Given the description of an element on the screen output the (x, y) to click on. 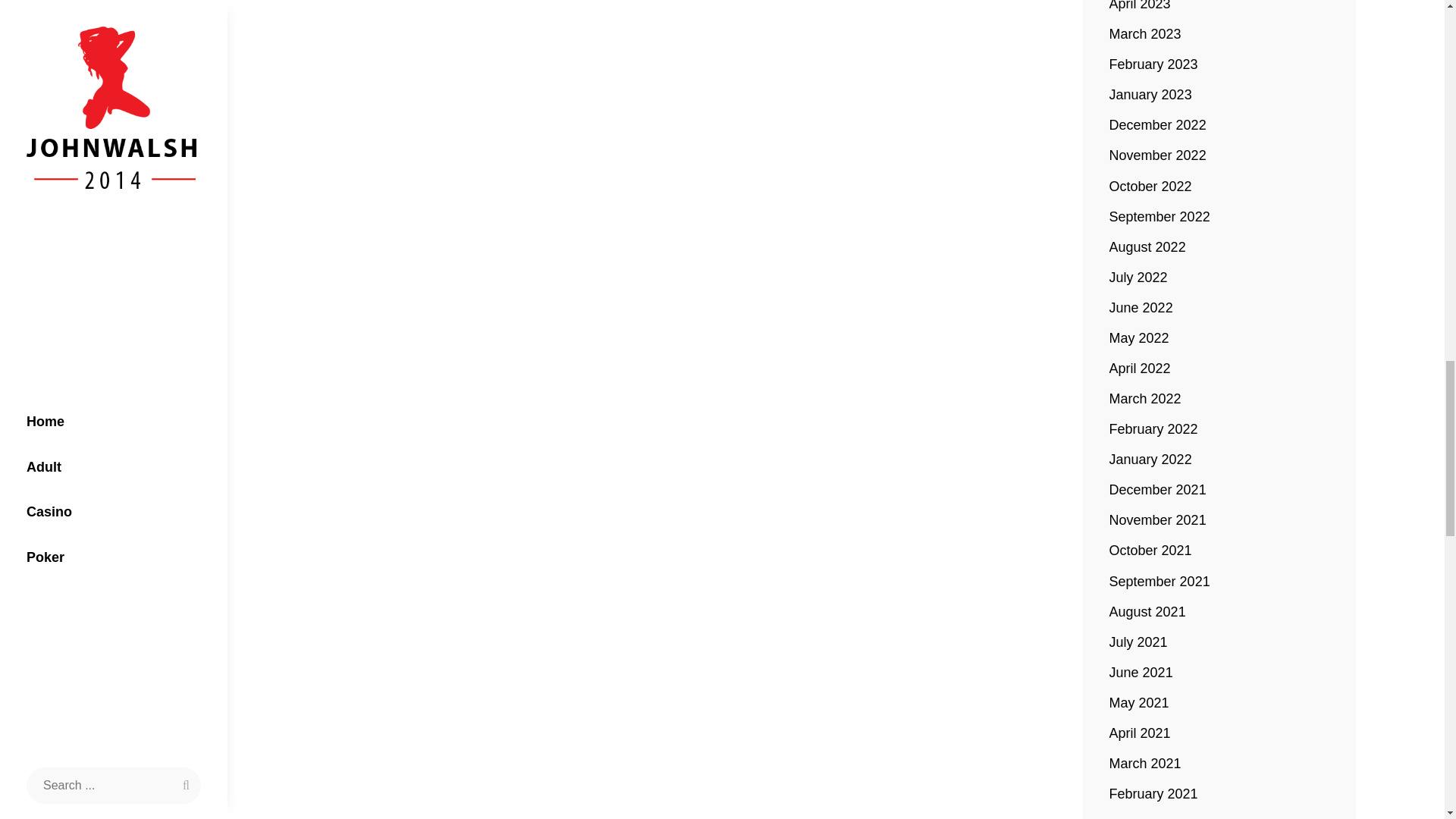
January 2023 (1150, 94)
February 2023 (1153, 64)
March 2023 (1144, 34)
December 2022 (1158, 124)
April 2023 (1139, 7)
